Given the description of an element on the screen output the (x, y) to click on. 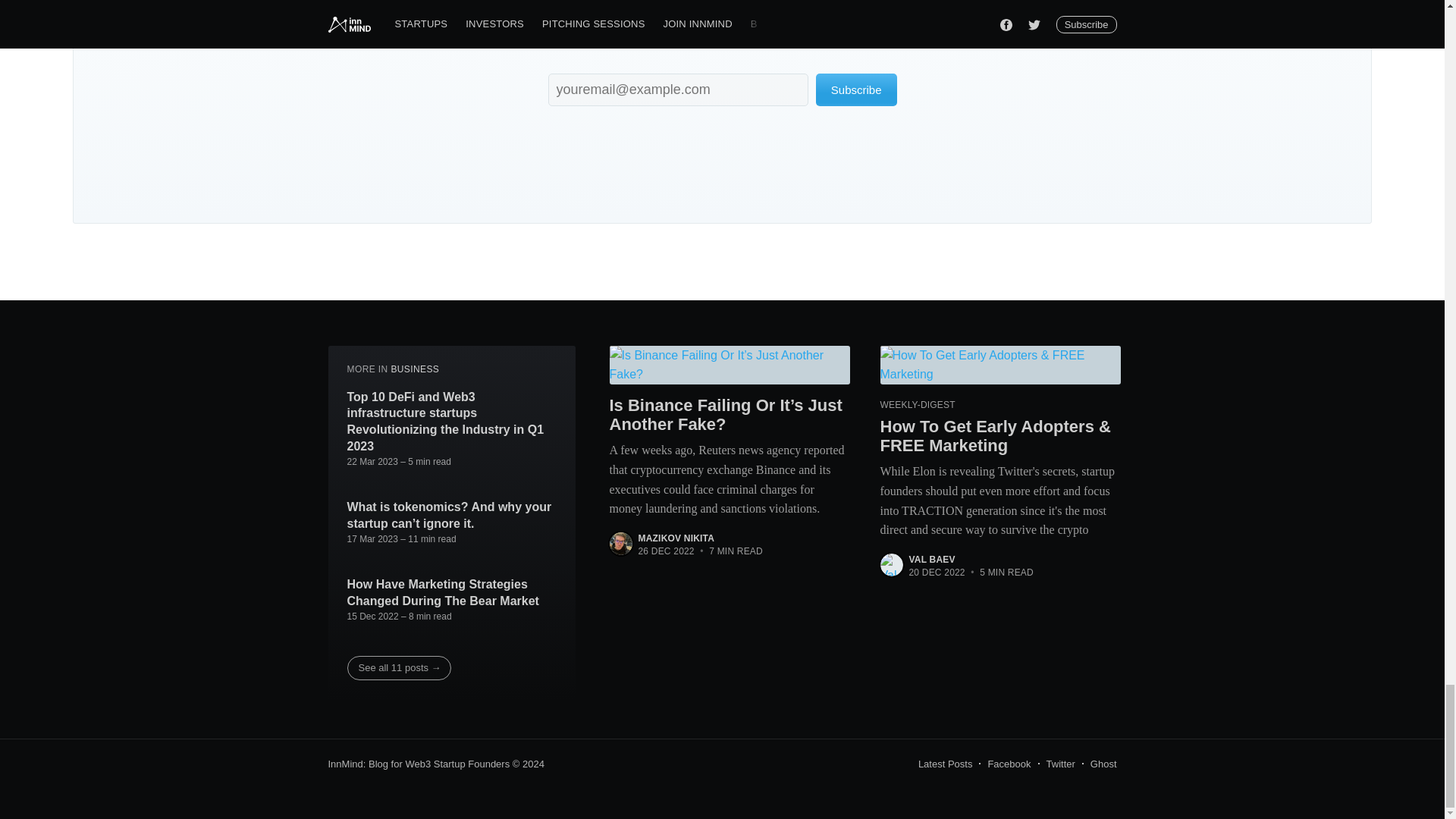
Subscribe (855, 89)
How Have Marketing Strategies Changed During The Bear Market (451, 592)
MAZIKOV NIKITA (676, 538)
BUSINESS (414, 368)
